Given the description of an element on the screen output the (x, y) to click on. 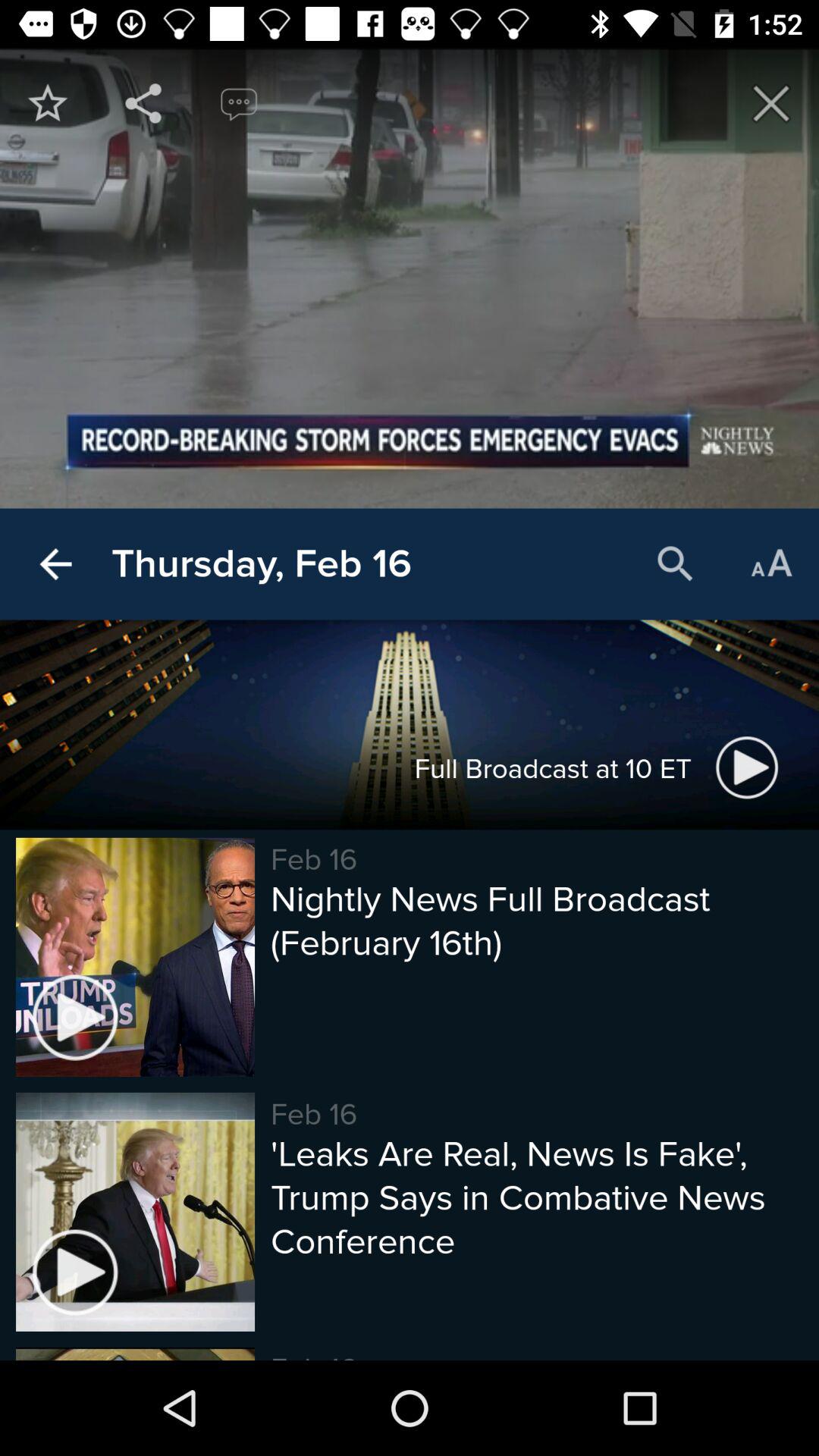
collapse the image (771, 103)
